Given the description of an element on the screen output the (x, y) to click on. 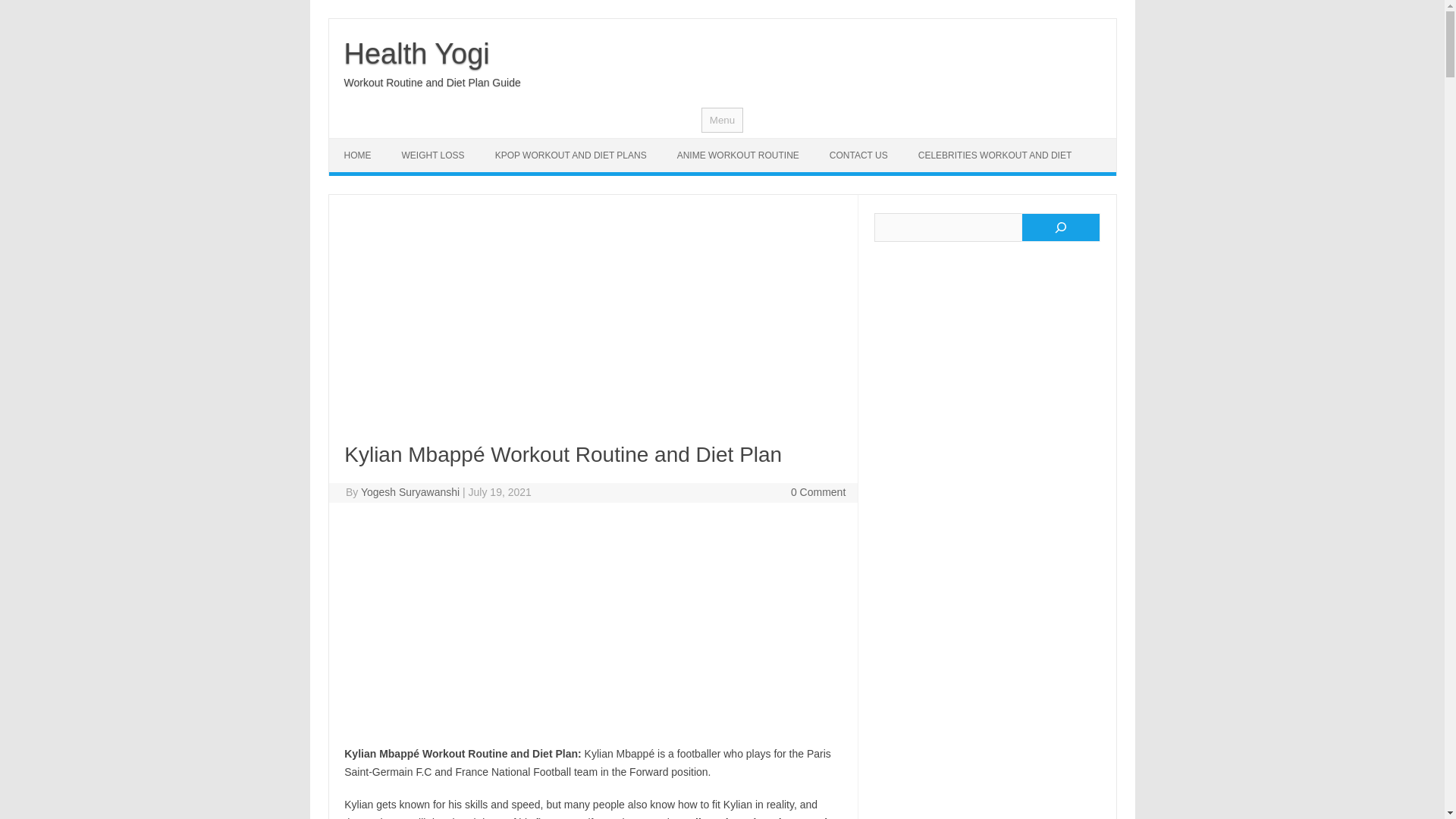
Menu (721, 119)
WEIGHT LOSS (433, 154)
CELEBRITIES WORKOUT AND DIET (994, 154)
0 Comment (817, 491)
ANIME WORKOUT ROUTINE (737, 154)
HOME (358, 154)
KPOP WORKOUT AND DIET PLANS (571, 154)
Health Yogi (416, 53)
Workout Routine and Diet Plan Guide (432, 82)
CONTACT US (857, 154)
Yogesh Suryawanshi (410, 491)
Posts by Yogesh Suryawanshi (410, 491)
Health Yogi (416, 53)
